Given the description of an element on the screen output the (x, y) to click on. 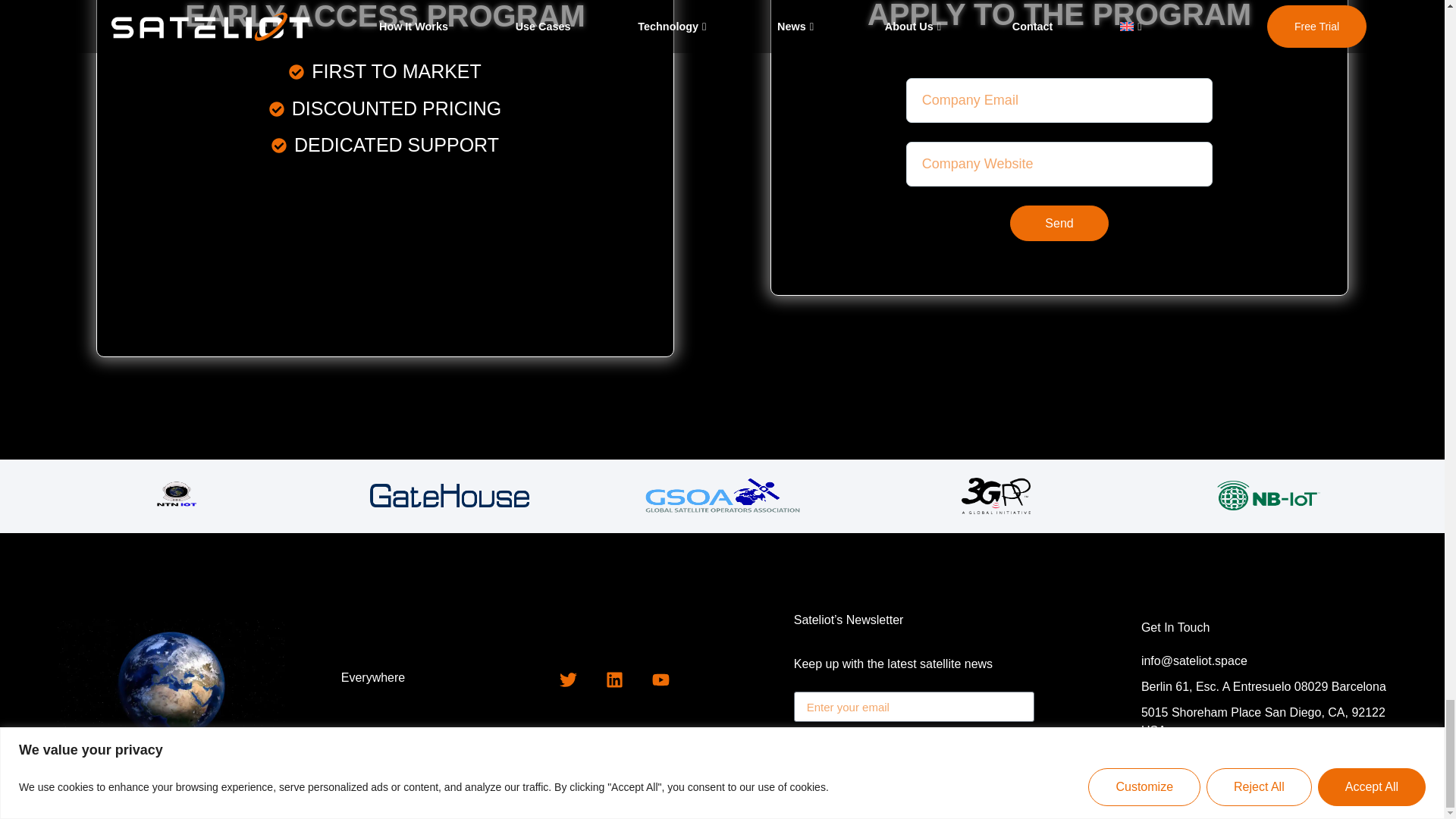
5G Satellite IoT 9 (175, 495)
